Given the description of an element on the screen output the (x, y) to click on. 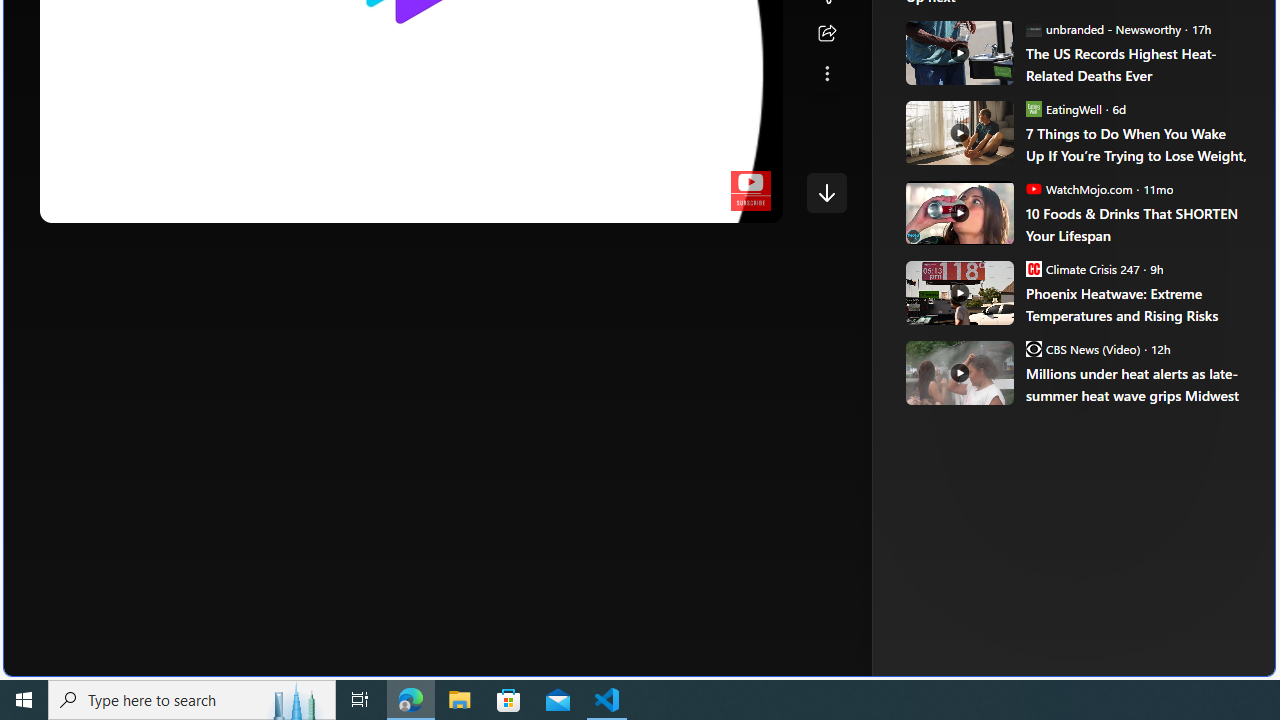
WatchMojo.com WatchMojo.com (1078, 188)
